Given the description of an element on the screen output the (x, y) to click on. 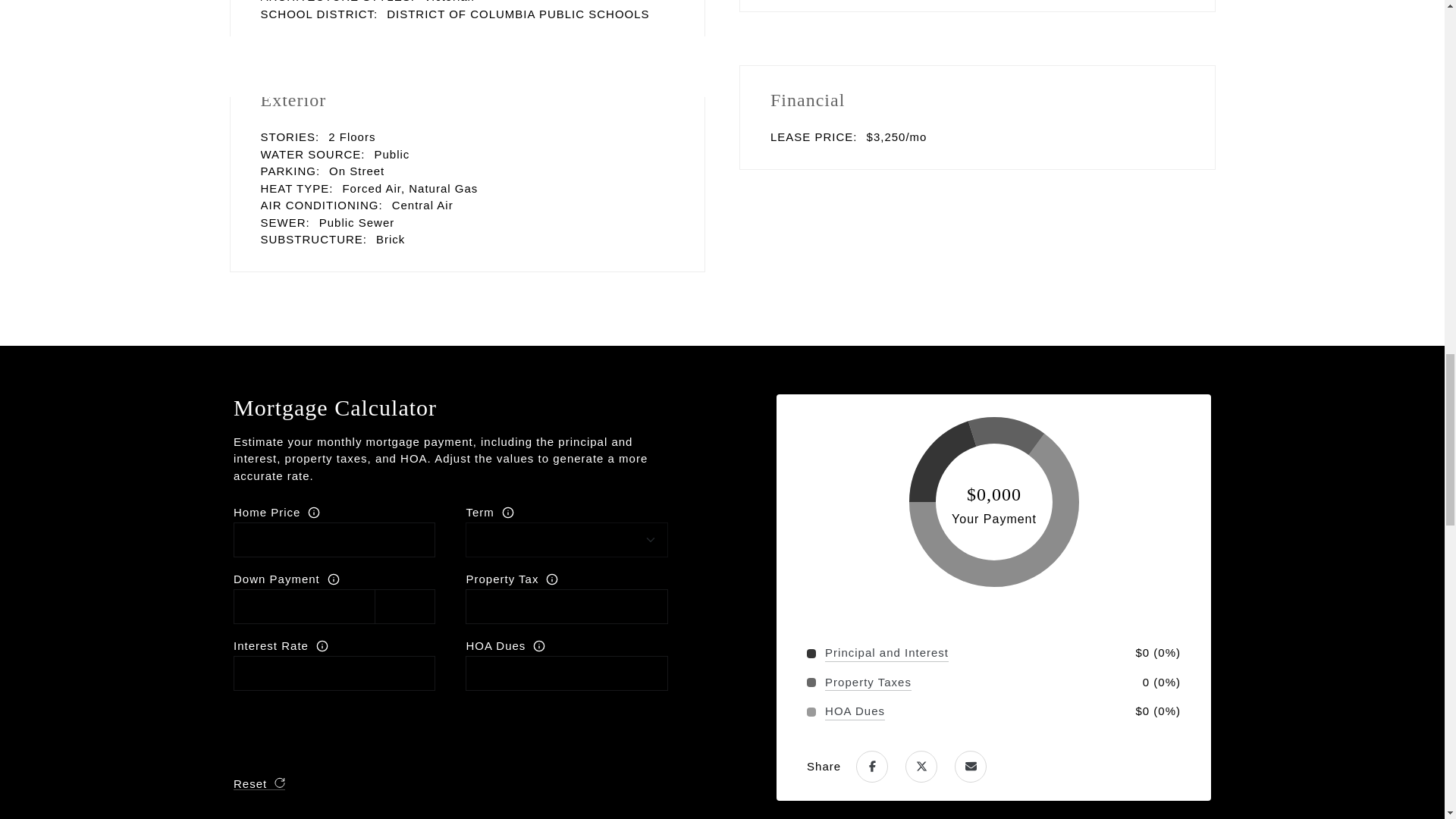
HOA Dues (855, 711)
Reset (258, 783)
Principal and Interest (887, 652)
Property Taxes (868, 682)
